Given the description of an element on the screen output the (x, y) to click on. 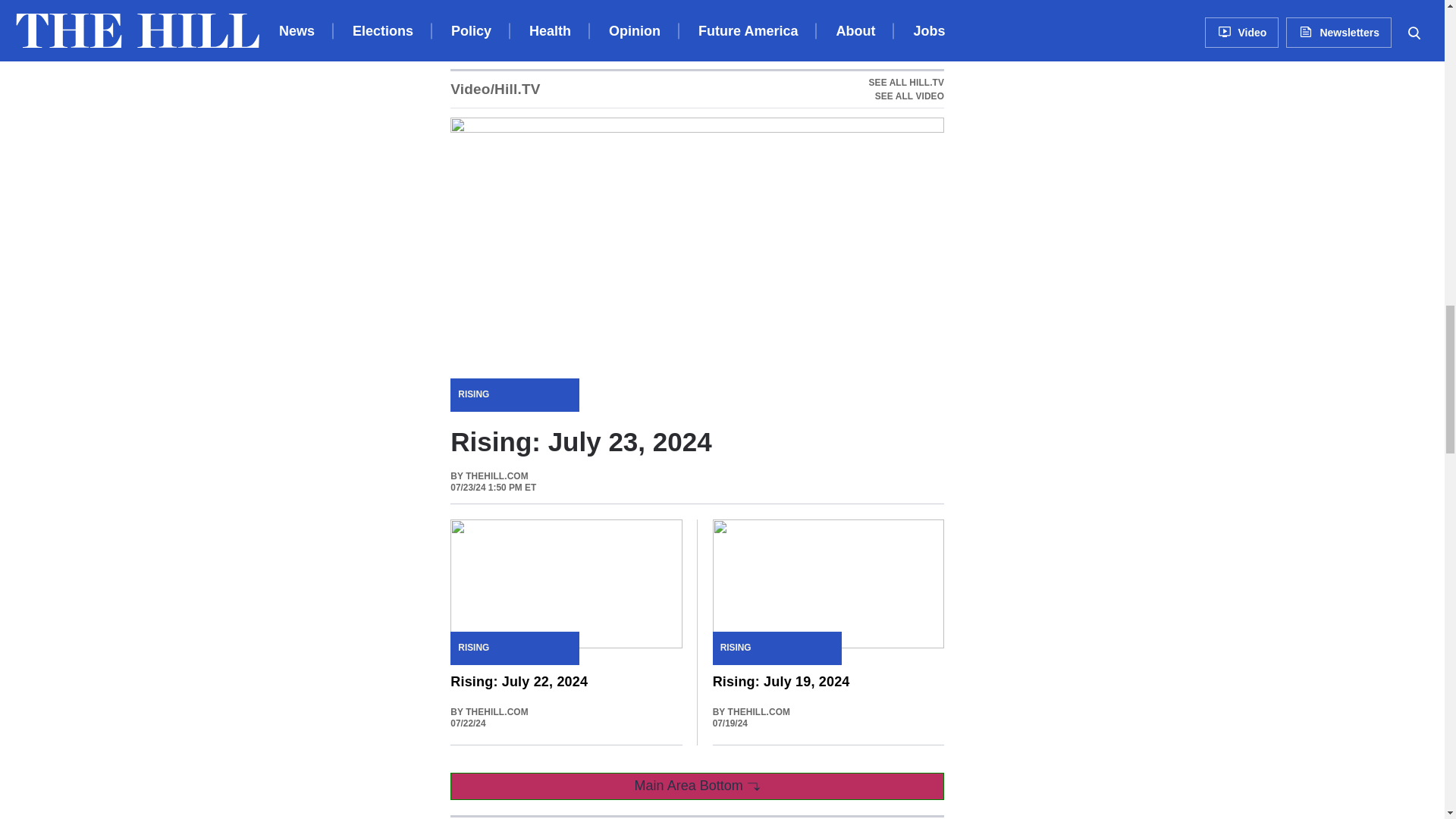
Top Stories (489, 818)
SEE ALL VIDEO (906, 96)
